Given the description of an element on the screen output the (x, y) to click on. 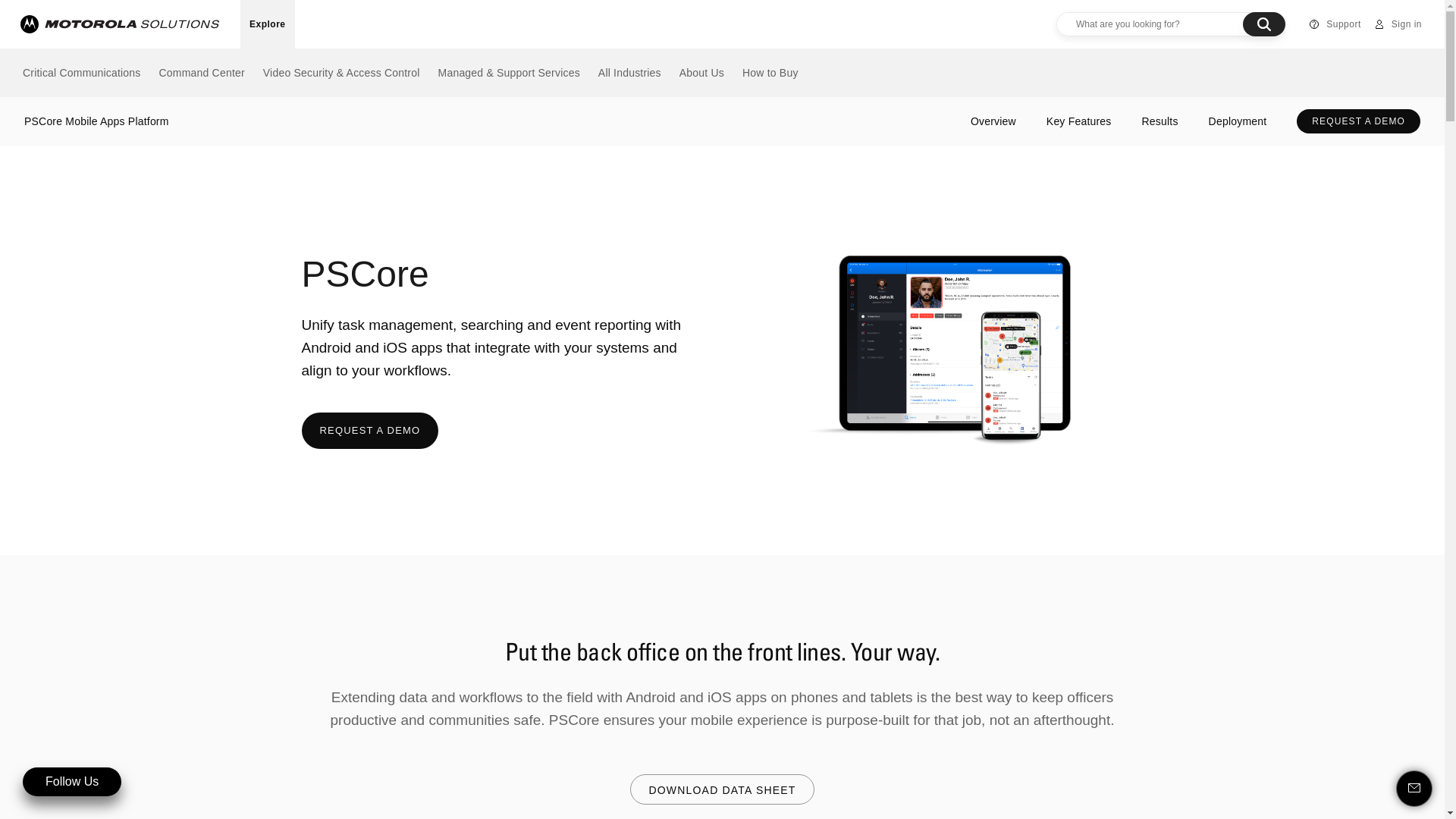
Explore Element type: text (267, 24)
Key Features Element type: text (1078, 120)
Managed & Support Services Element type: text (509, 72)
Video Security & Access Control Element type: text (341, 72)
Sign in Element type: text (1397, 24)
All Industries Element type: text (629, 72)
Follow Us Element type: text (79, 781)
DOWNLOAD DATA SHEET Element type: text (721, 789)
About Us Element type: text (701, 72)
Deployment Element type: text (1237, 120)
Insert a query. Press enter to send Element type: hover (1148, 23)
Critical Communications Element type: text (81, 72)
REQUEST A DEMO Element type: text (1358, 121)
Overview Element type: text (993, 120)
How to Buy Element type: text (770, 72)
Support Element type: text (1334, 24)
Command Center Element type: text (202, 72)
REQUEST A DEMO Element type: text (370, 430)
Results Element type: text (1160, 120)
